Given the description of an element on the screen output the (x, y) to click on. 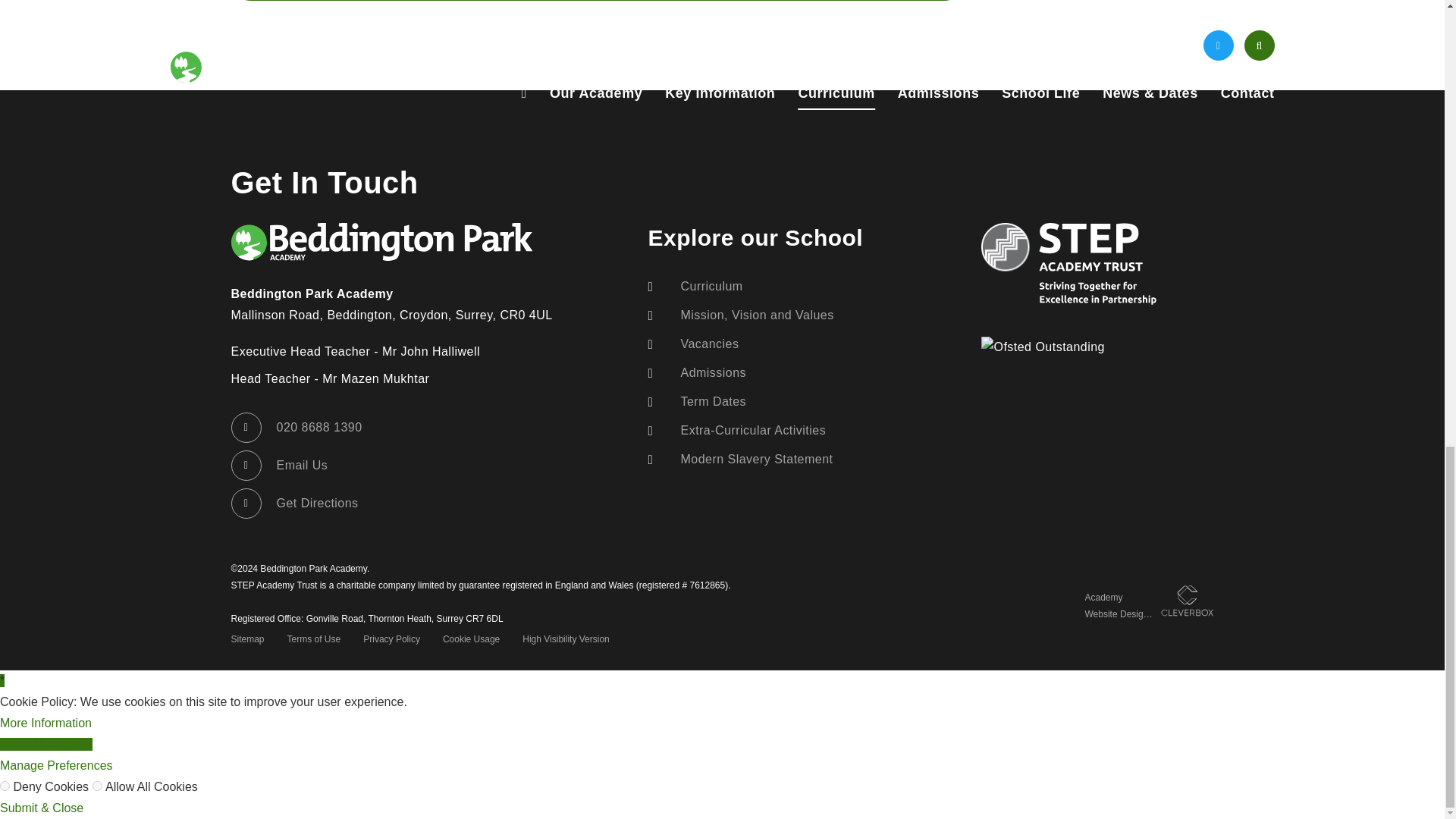
denied (5, 786)
Call us on 020 8688 1390 (295, 427)
 Beddington Park Academy (381, 241)
Get Directions (294, 503)
accepted (97, 786)
